Given the description of an element on the screen output the (x, y) to click on. 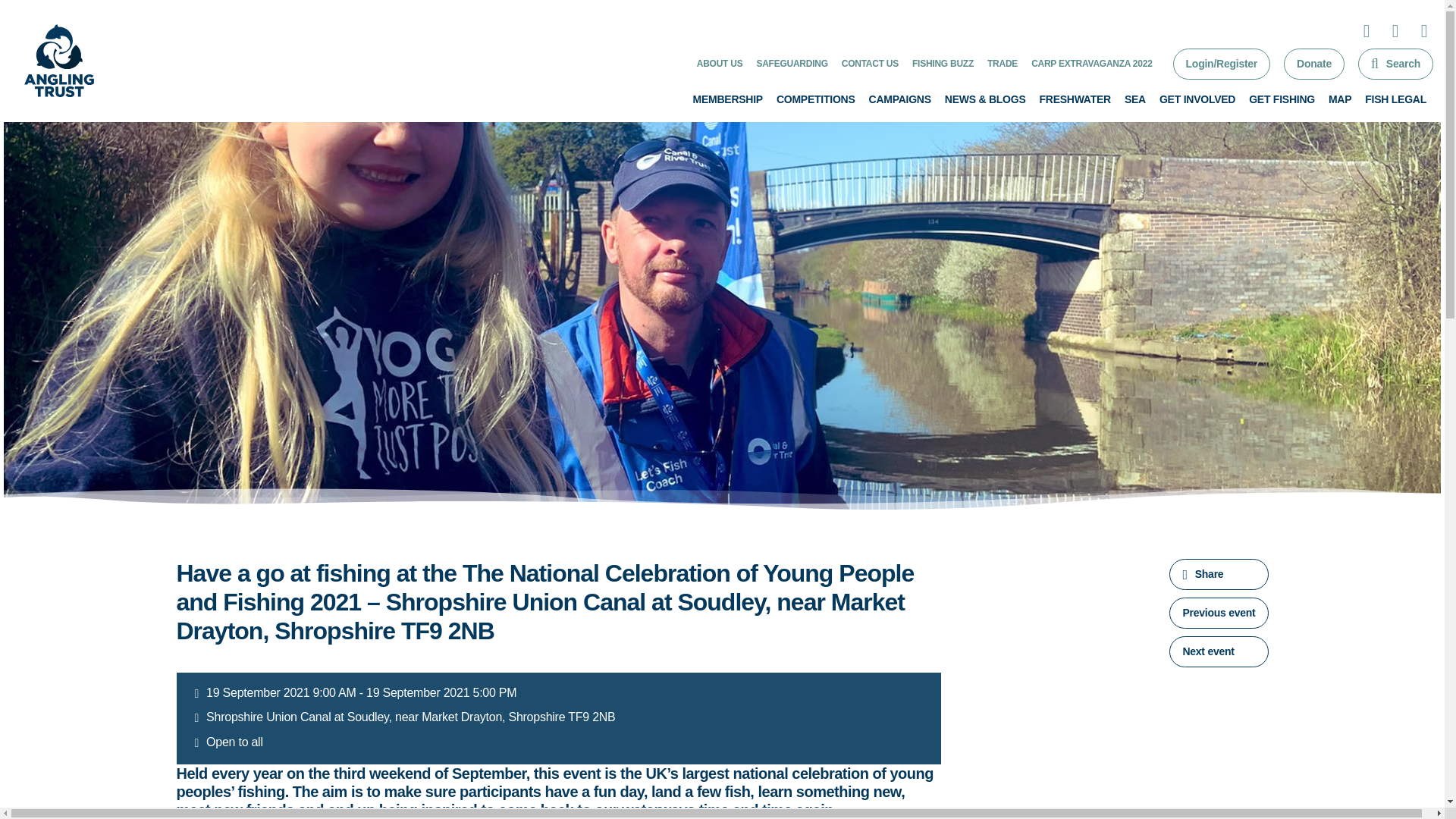
COMPETITIONS (816, 99)
FISH LEGAL (1395, 99)
MEMBERSHIP (727, 99)
Search (1395, 63)
Donate (1313, 63)
ABOUT US (719, 63)
SEA (1134, 99)
SAFEGUARDING (791, 63)
CARP EXTRAVAGANZA 2022 (1090, 63)
FRESHWATER (1074, 99)
FISHING BUZZ (943, 63)
GET FISHING (1281, 99)
TRADE (1002, 63)
CONTACT US (869, 63)
CAMPAIGNS (900, 99)
